Given the description of an element on the screen output the (x, y) to click on. 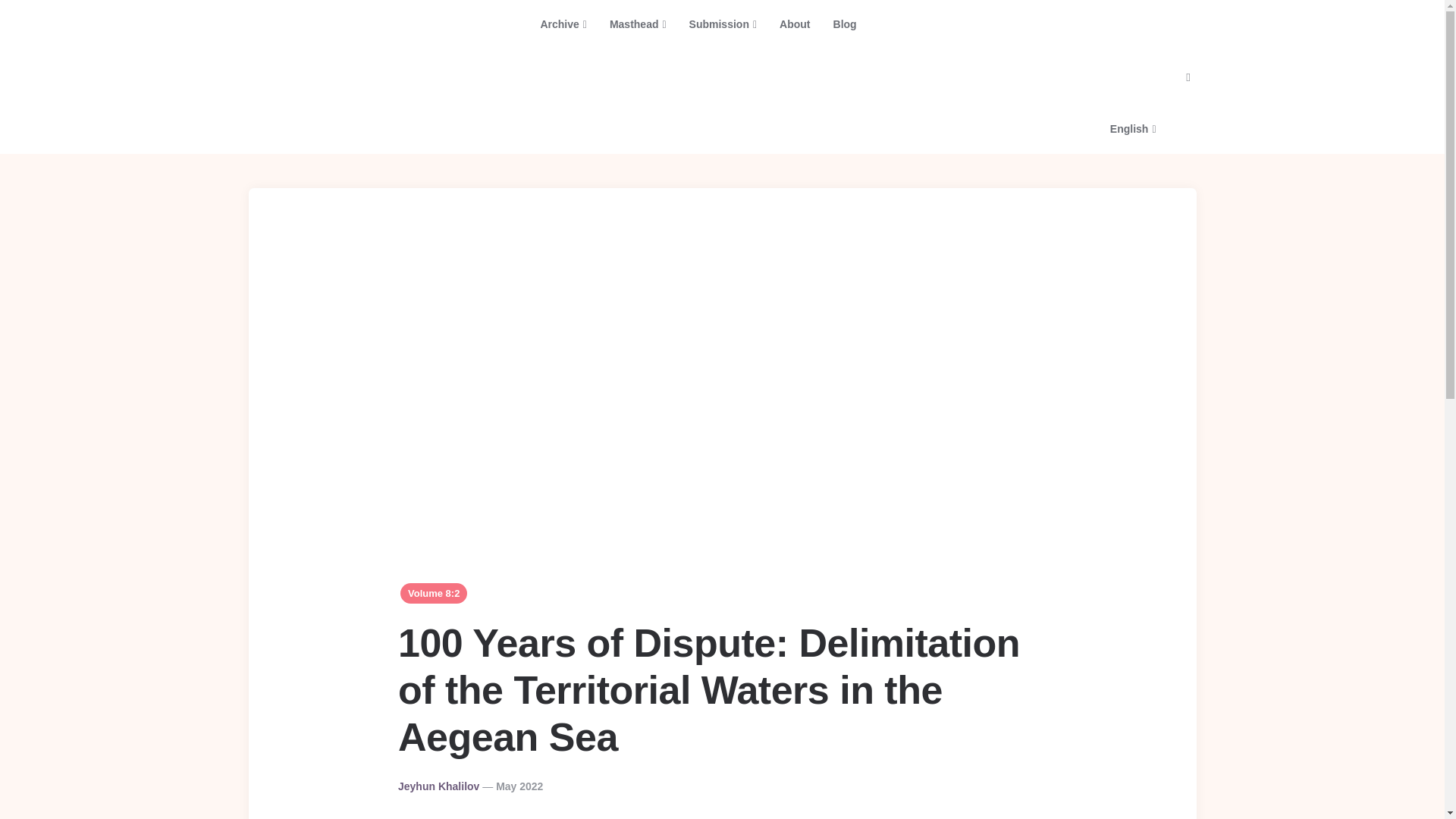
English (1017, 76)
Archive (562, 24)
Masthead (638, 24)
